Given the description of an element on the screen output the (x, y) to click on. 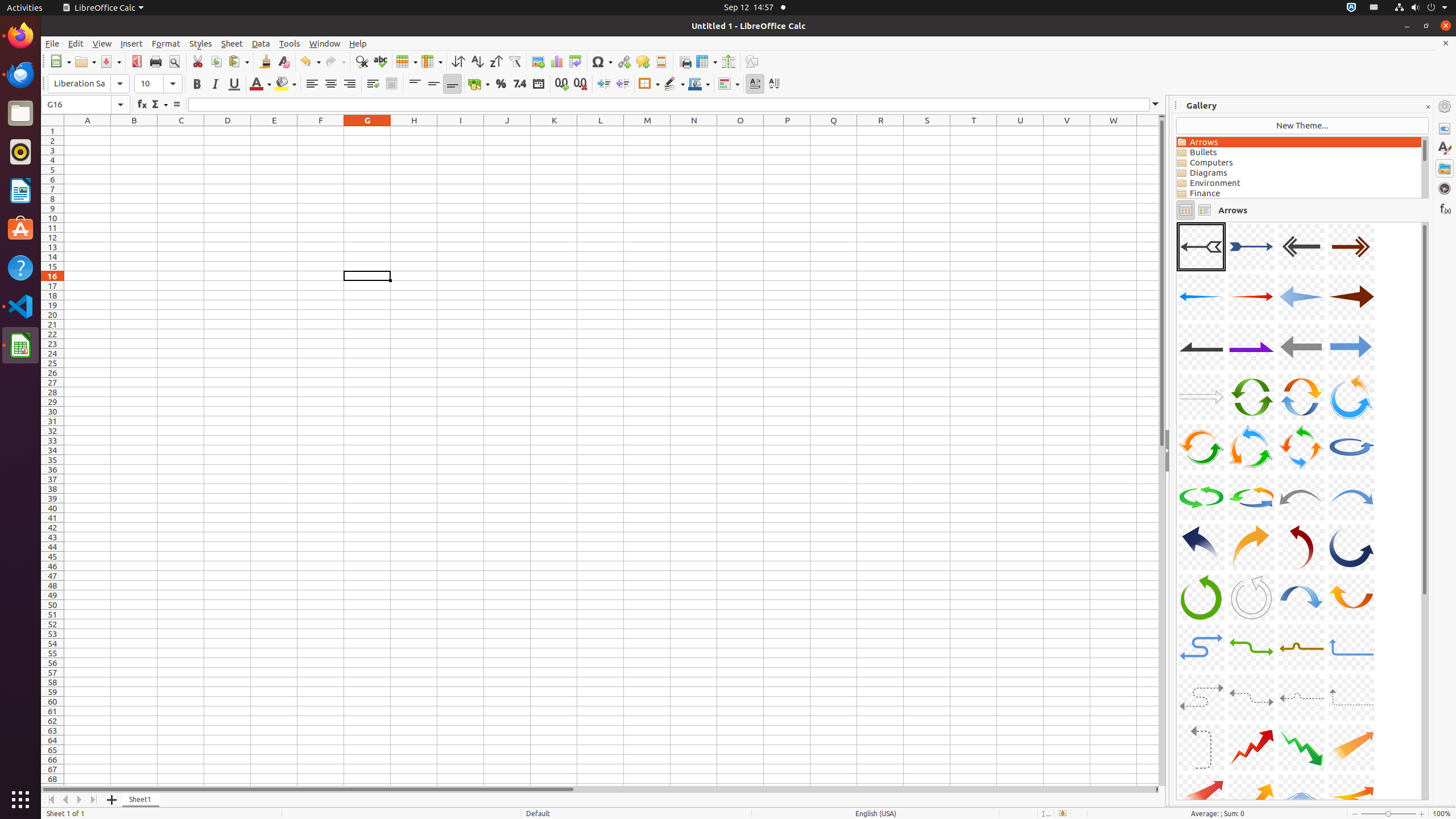
Select Function Element type: push-button (159, 104)
A07-Arrow-LightBlue-Left Element type: list-item (1300, 296)
A09-Arrow-Gray-Left Element type: list-item (1200, 346)
A42-TrendArrow-Red-GoUp Element type: list-item (1250, 746)
S1 Element type: table-cell (926, 130)
